Given the description of an element on the screen output the (x, y) to click on. 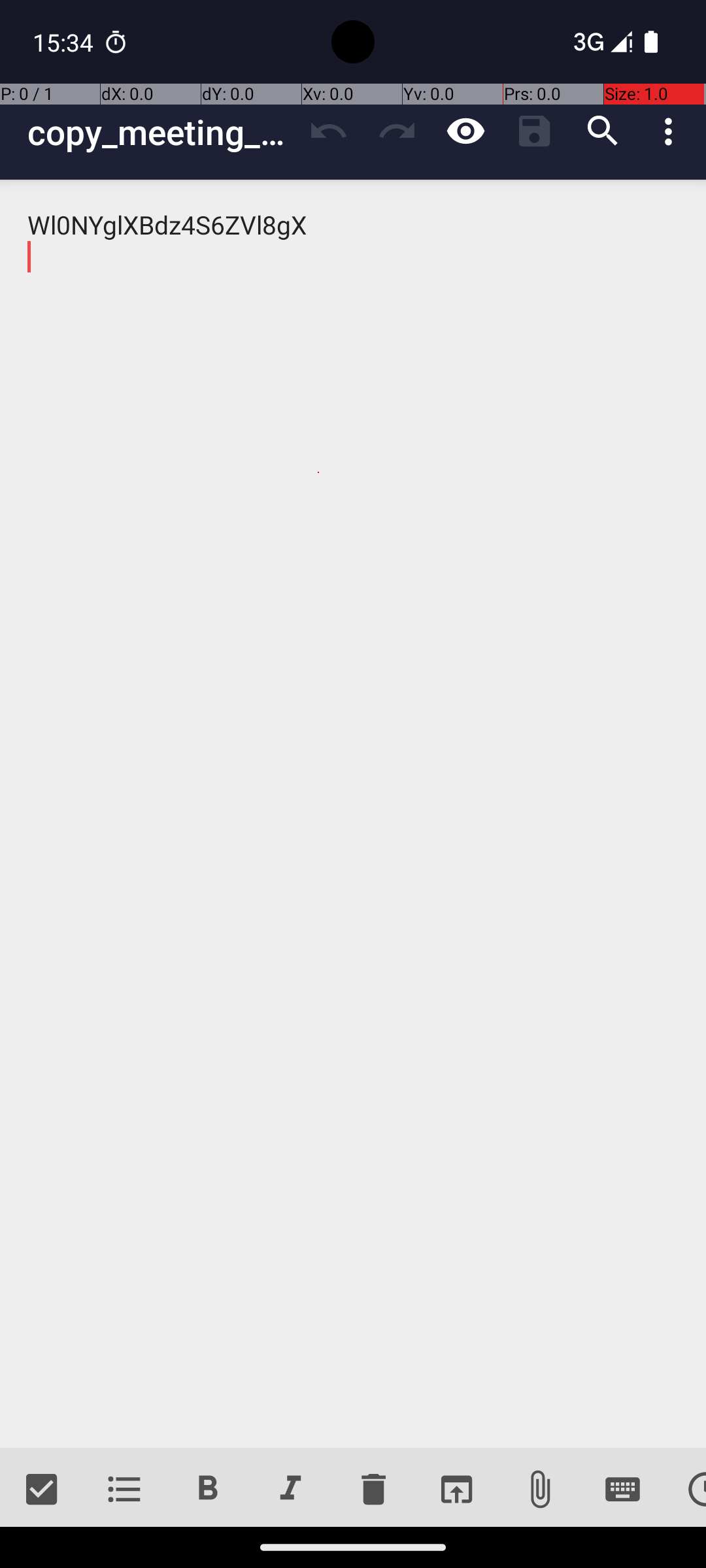
copy_meeting_notes_project_team Element type: android.widget.TextView (160, 131)
Wl0NYglXBdz4S6ZVl8gX
 Element type: android.widget.EditText (353, 813)
